Given the description of an element on the screen output the (x, y) to click on. 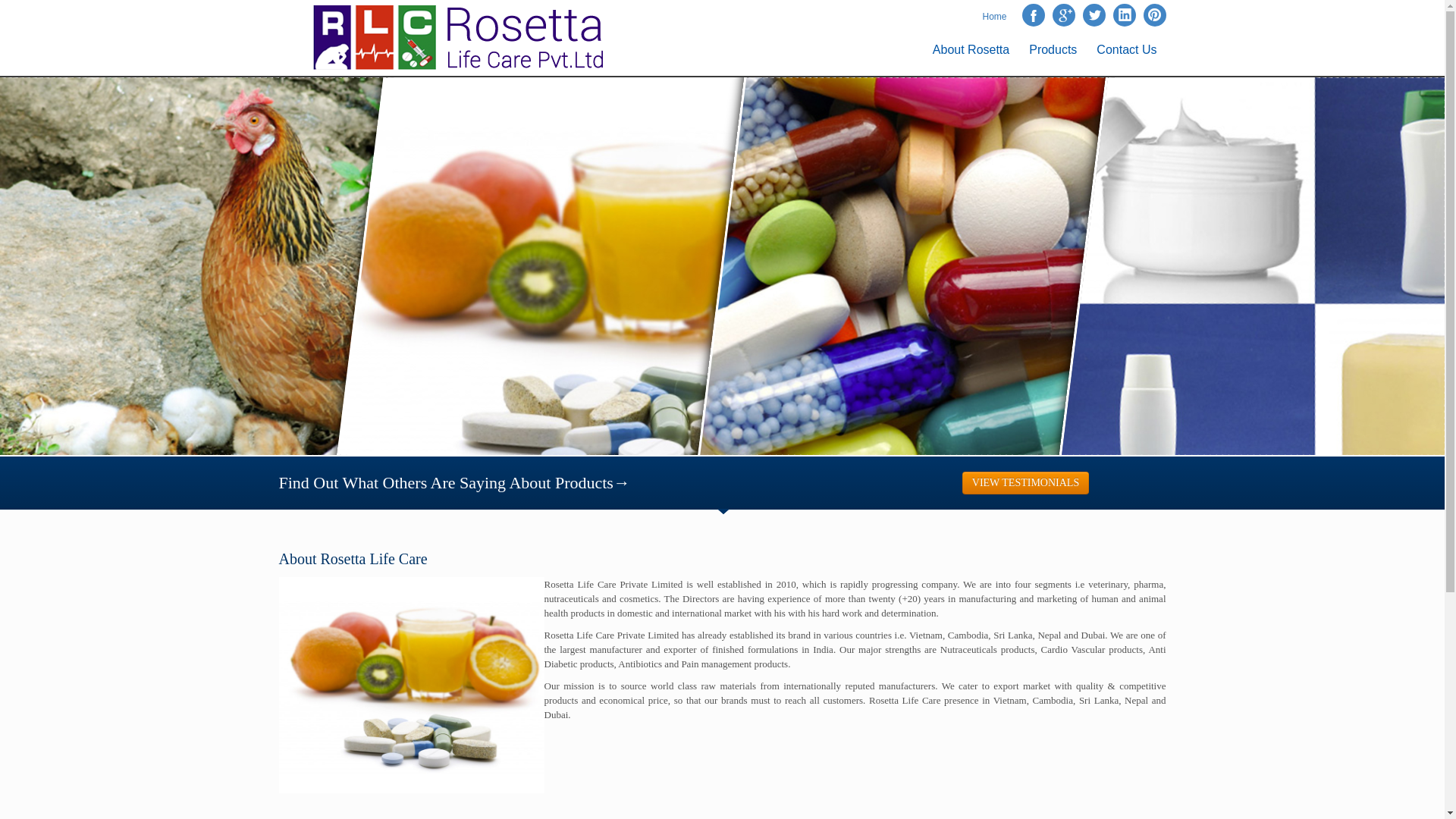
Contact Us (1126, 50)
Products (1053, 50)
About Rosetta (970, 50)
Home (993, 16)
Facebook (1033, 15)
VIEW TESTIMONIALS (1025, 482)
LinkedIn (1124, 15)
Pinterest (1154, 15)
Twitter (1094, 15)
